Given the description of an element on the screen output the (x, y) to click on. 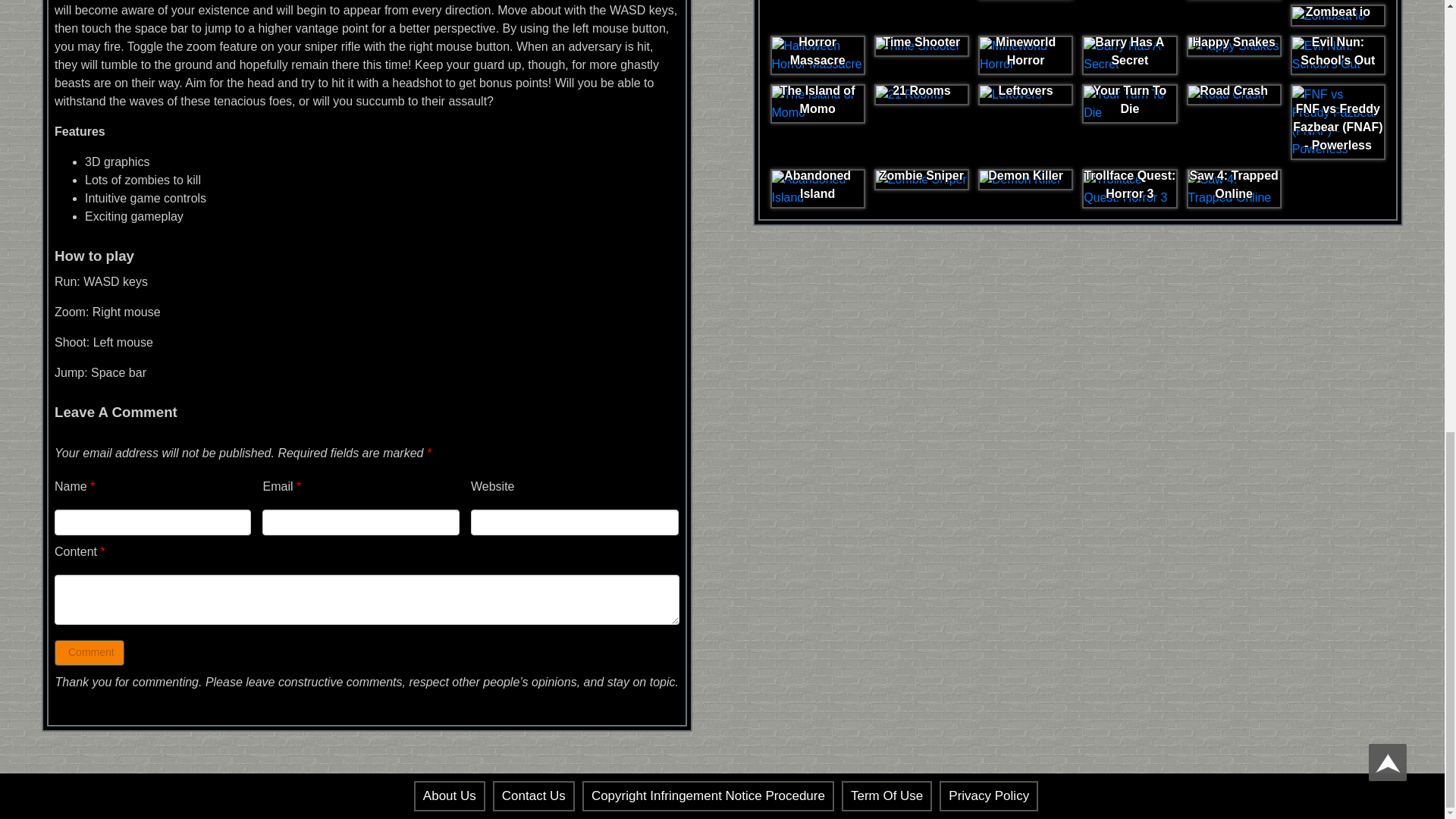
Comment (89, 652)
